Given the description of an element on the screen output the (x, y) to click on. 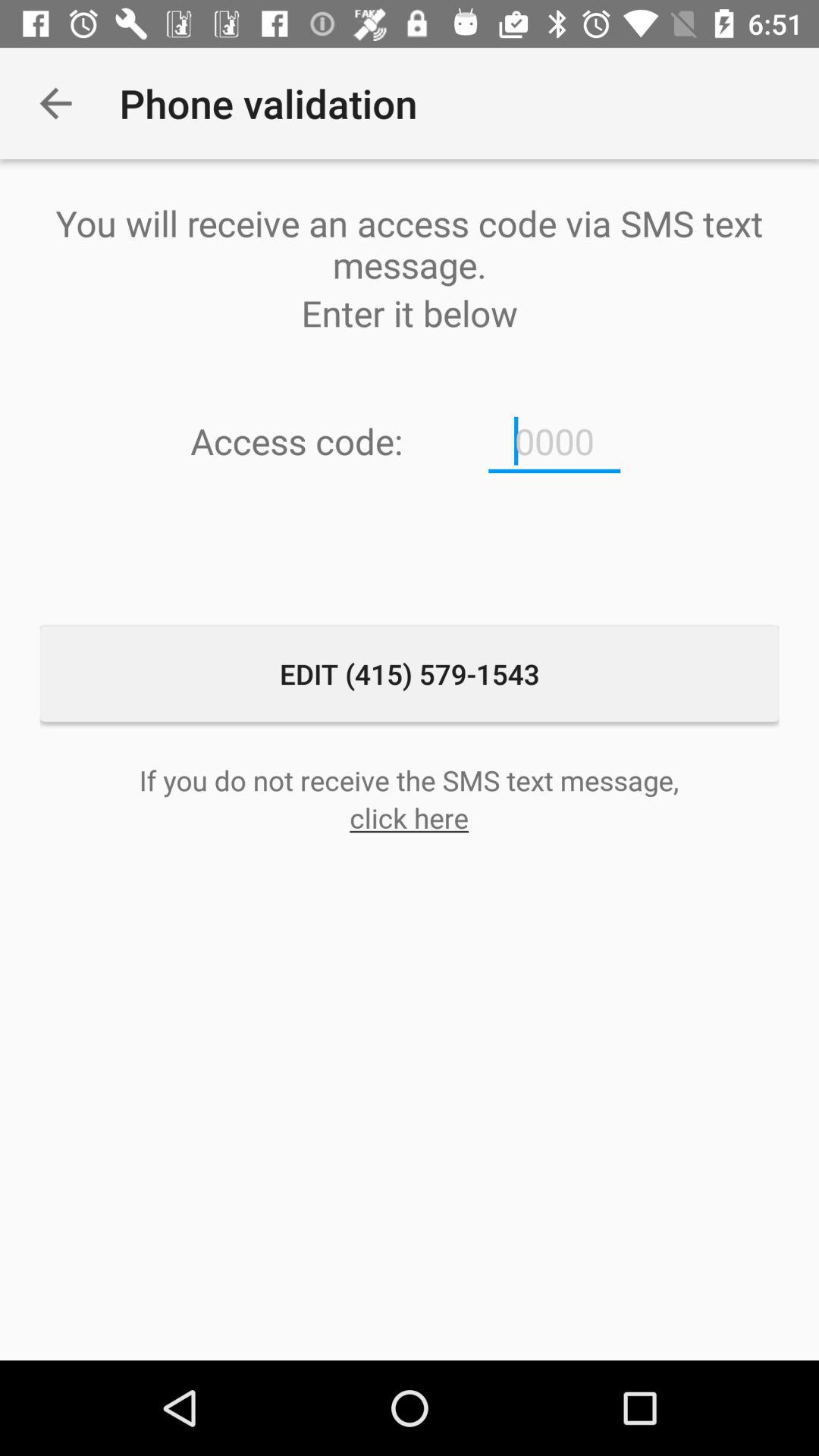
press item below enter it below icon (554, 441)
